Given the description of an element on the screen output the (x, y) to click on. 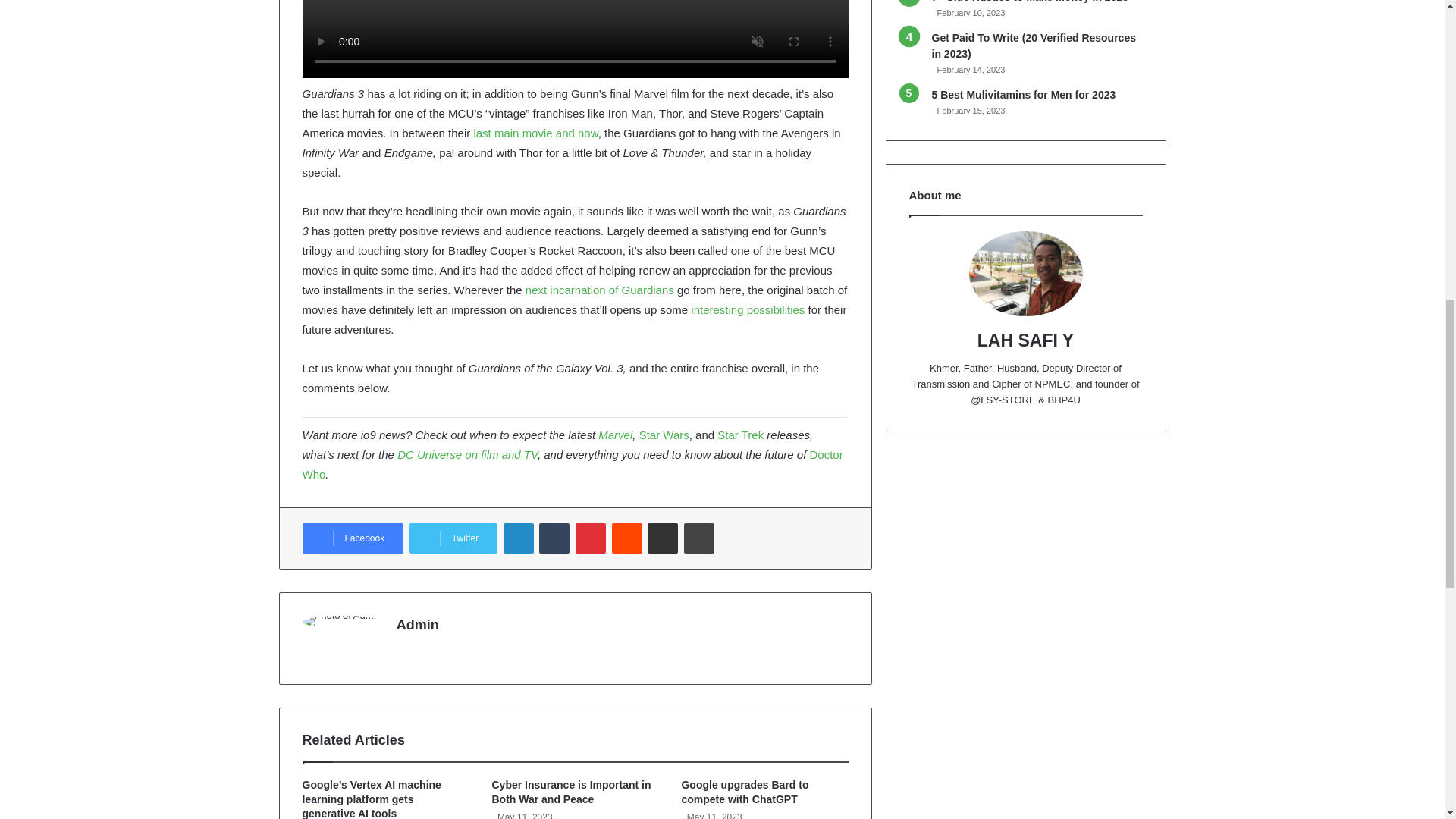
Star Wars (663, 434)
Pinterest (590, 538)
interesting possibilities (747, 309)
Doctor Who (572, 463)
Twitter (453, 538)
Marvel (614, 434)
Tumblr (553, 538)
next incarnation of Guardians (599, 289)
LinkedIn (518, 538)
Star Trek (739, 434)
